Given the description of an element on the screen output the (x, y) to click on. 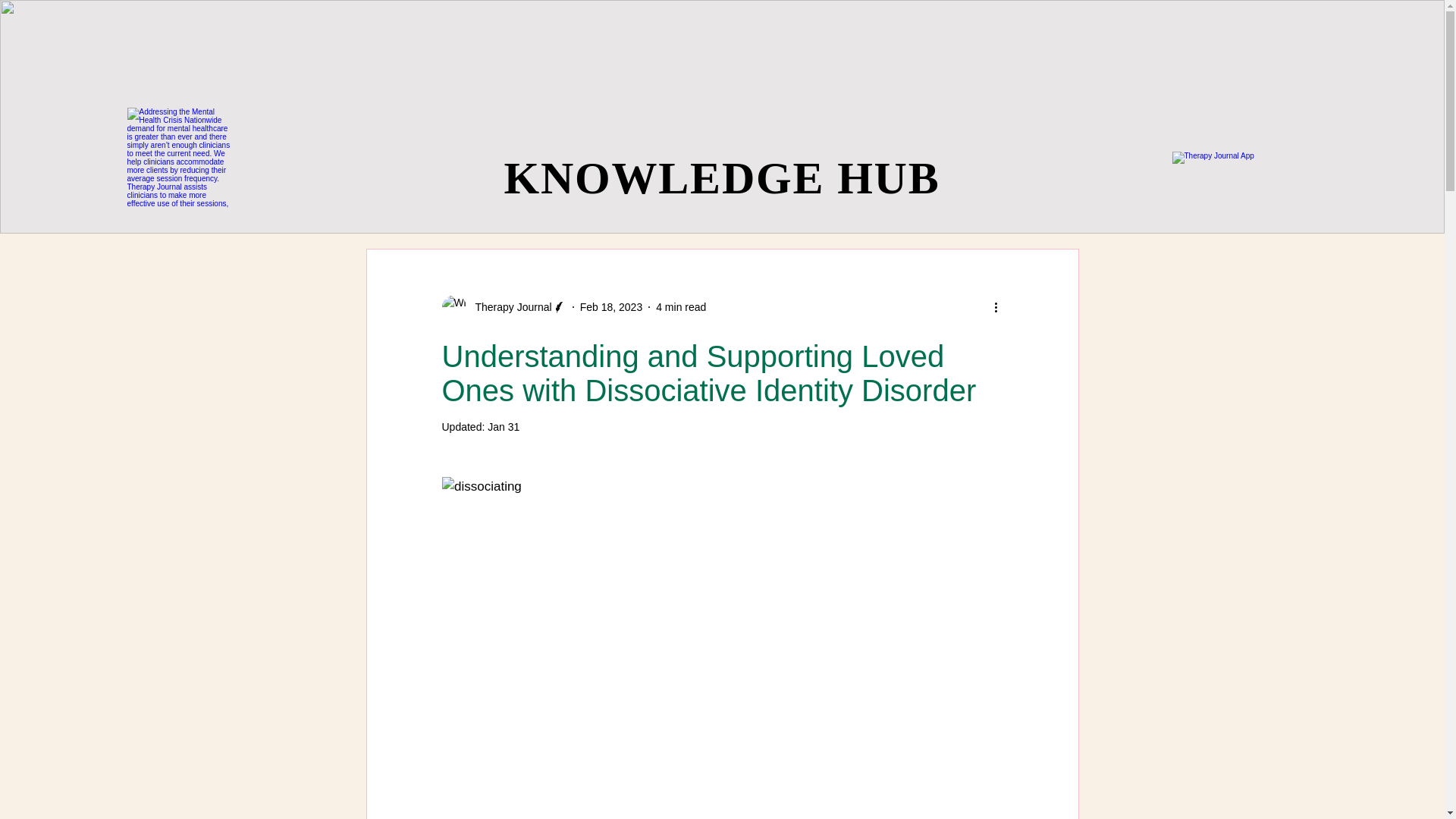
Jan 31 (503, 426)
KNOWLEDGE HUB (721, 177)
Therapy Journal (508, 306)
Feb 18, 2023 (611, 306)
Therapy Journal (503, 306)
4 min read (681, 306)
